Given the description of an element on the screen output the (x, y) to click on. 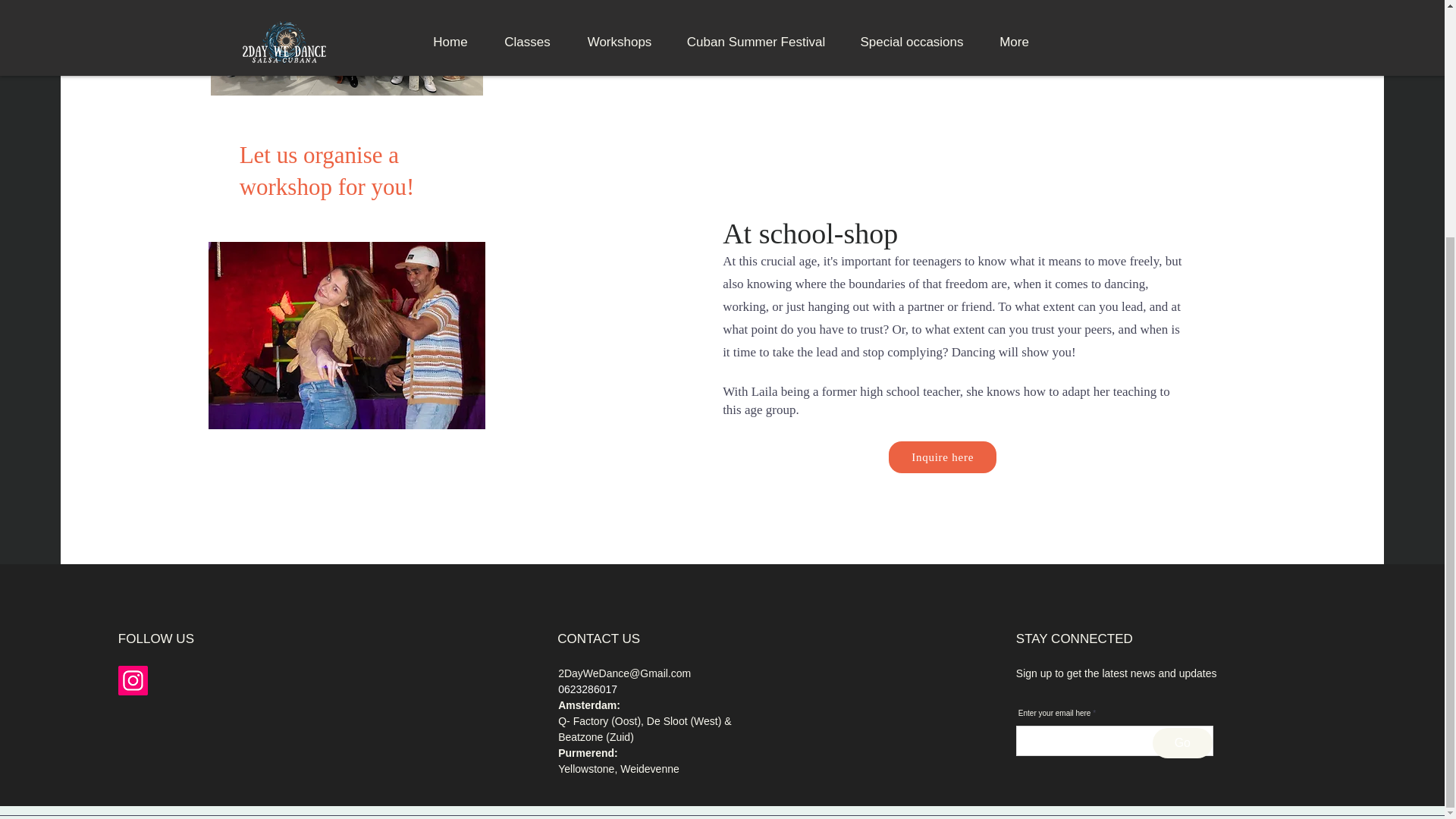
Inquire here (941, 457)
Go (1182, 743)
